Given the description of an element on the screen output the (x, y) to click on. 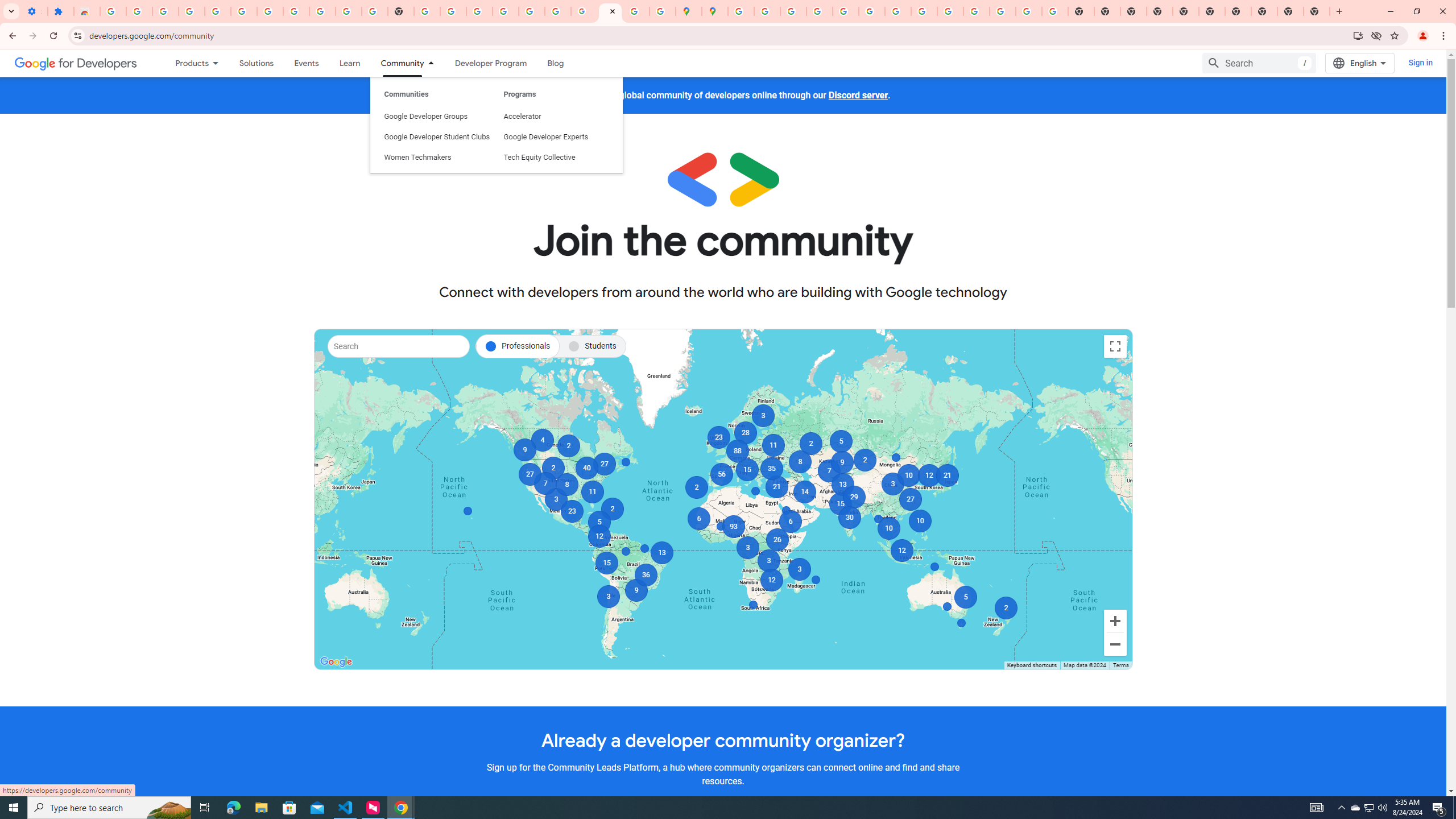
5 (599, 522)
13 (660, 552)
YouTube (348, 11)
Google for Developers (75, 63)
93 (733, 526)
Install Google Developers (1358, 35)
Extensions (60, 11)
Events (306, 62)
Google (336, 661)
